Given the description of an element on the screen output the (x, y) to click on. 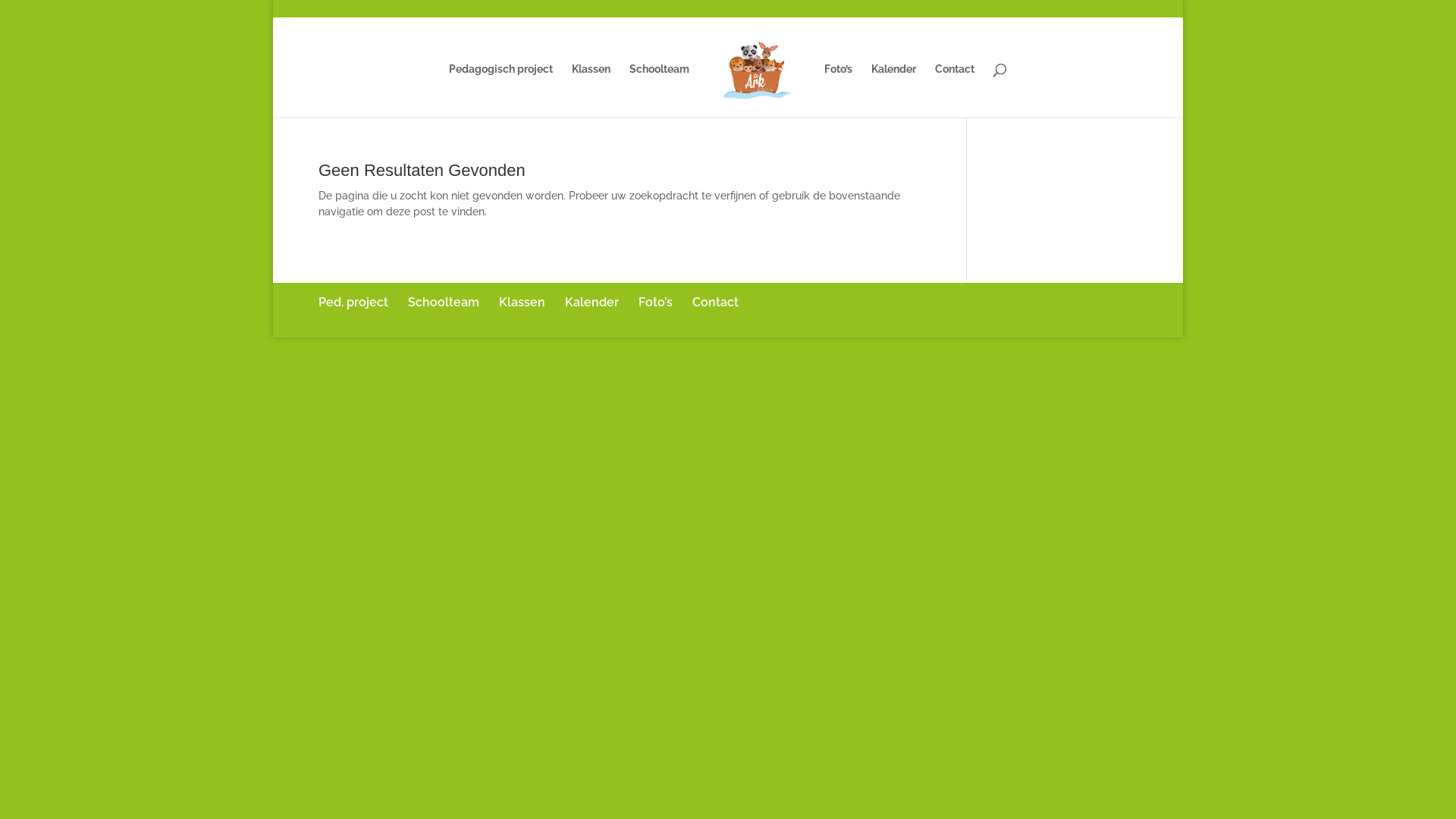
Kalender Element type: text (893, 90)
Schoolteam Element type: text (659, 90)
Schoolteam Element type: text (443, 301)
Klassen Element type: text (590, 90)
Kalender Element type: text (591, 301)
Klassen Element type: text (521, 301)
Ped. project Element type: text (353, 301)
Contact Element type: text (954, 90)
Contact Element type: text (715, 301)
Pedagogisch project Element type: text (500, 90)
